Given the description of an element on the screen output the (x, y) to click on. 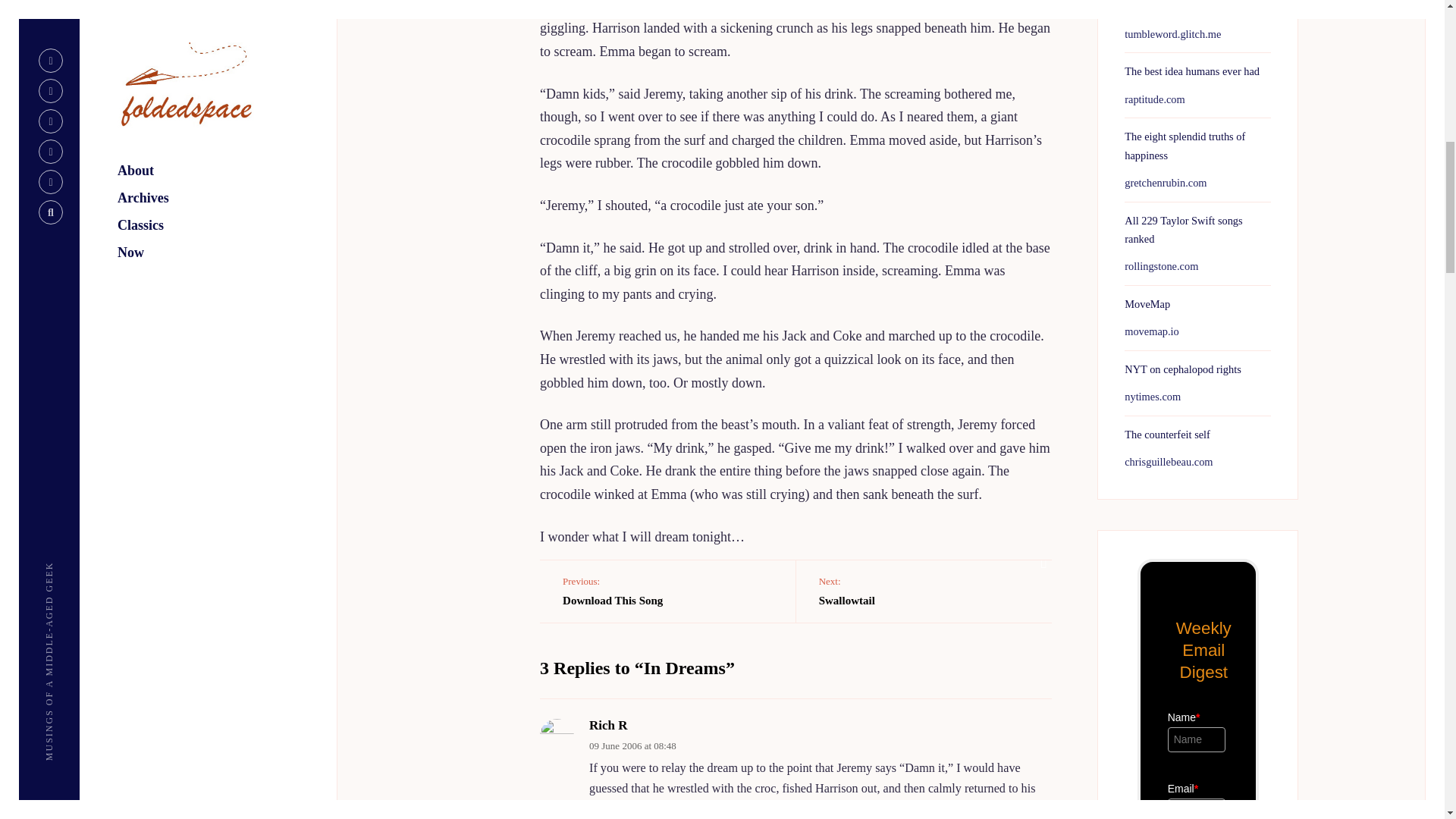
Email (1196, 808)
MoveMap (1147, 304)
Name (1196, 739)
All 229 Taylor Swift songs ranked (1182, 228)
Rich R (608, 725)
The eight splendid truths of happiness (1184, 145)
NYT on cephalopod rights (1182, 369)
09 June 2006 at 08:48 (633, 745)
The best idea humans ever had (1191, 70)
